Given the description of an element on the screen output the (x, y) to click on. 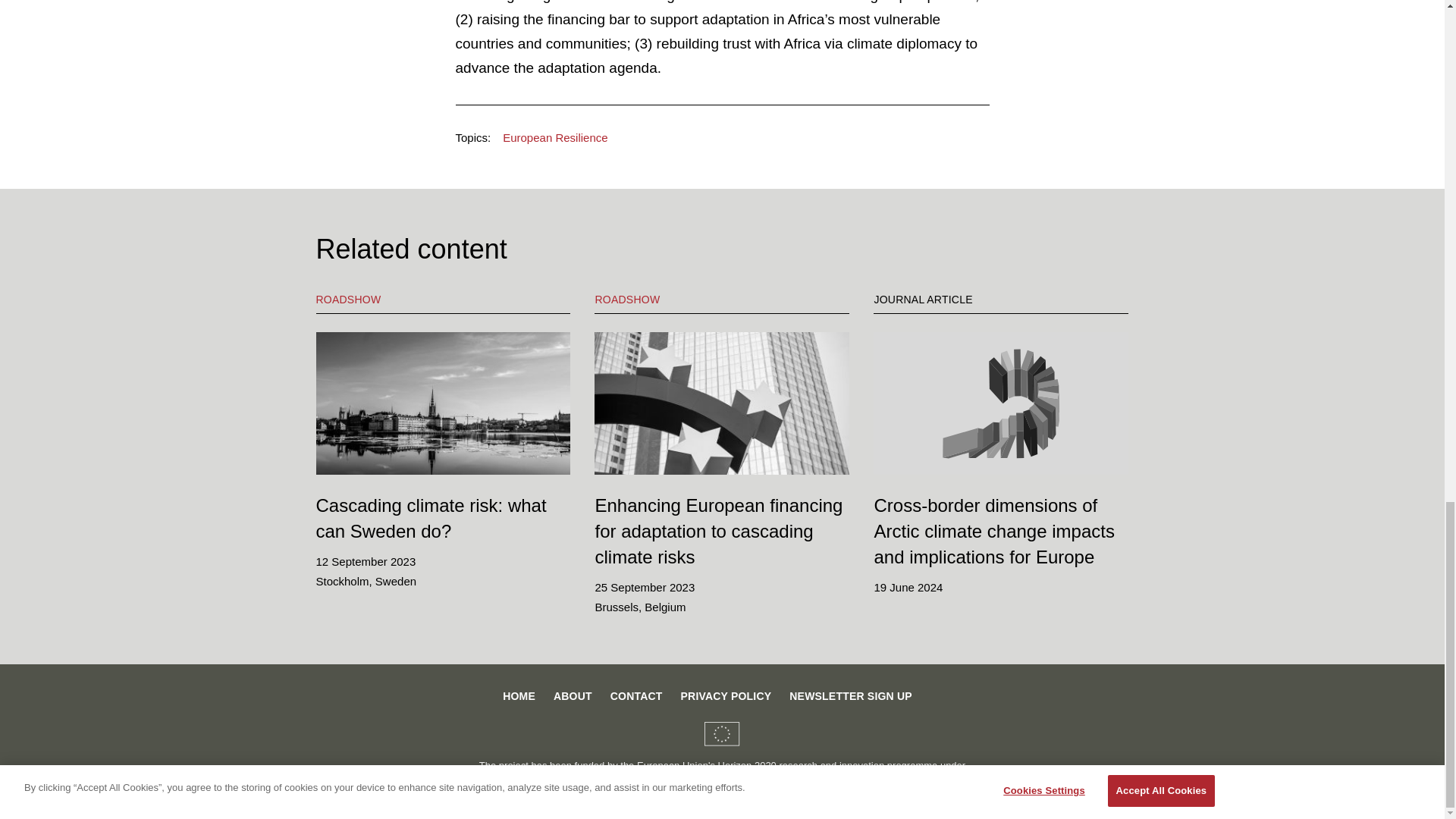
HOME (518, 695)
European Resilience (554, 137)
ABOUT (572, 695)
CONTACT (636, 695)
